Given the description of an element on the screen output the (x, y) to click on. 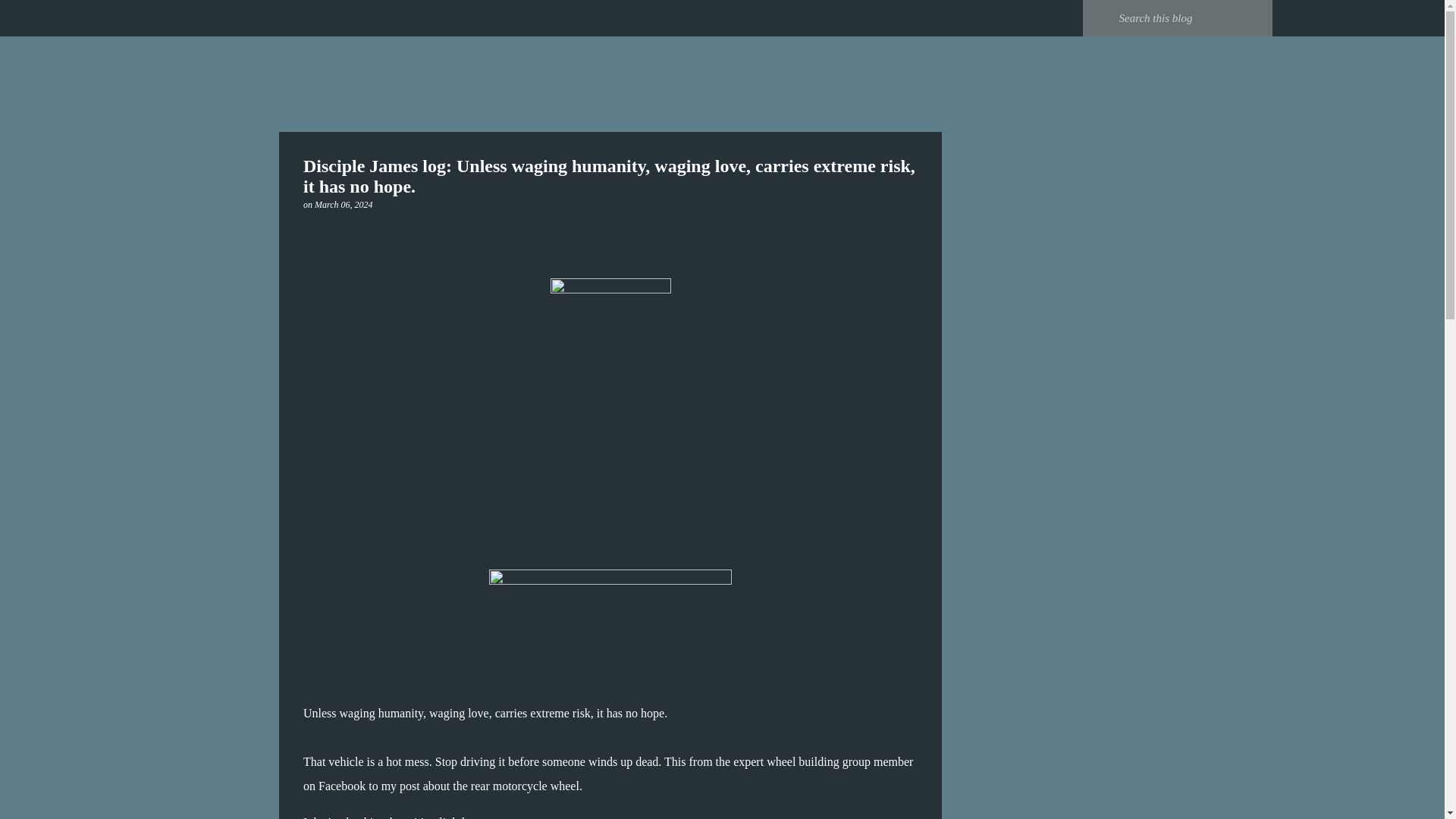
March 06, 2024 (343, 204)
permanent link (343, 204)
